Given the description of an element on the screen output the (x, y) to click on. 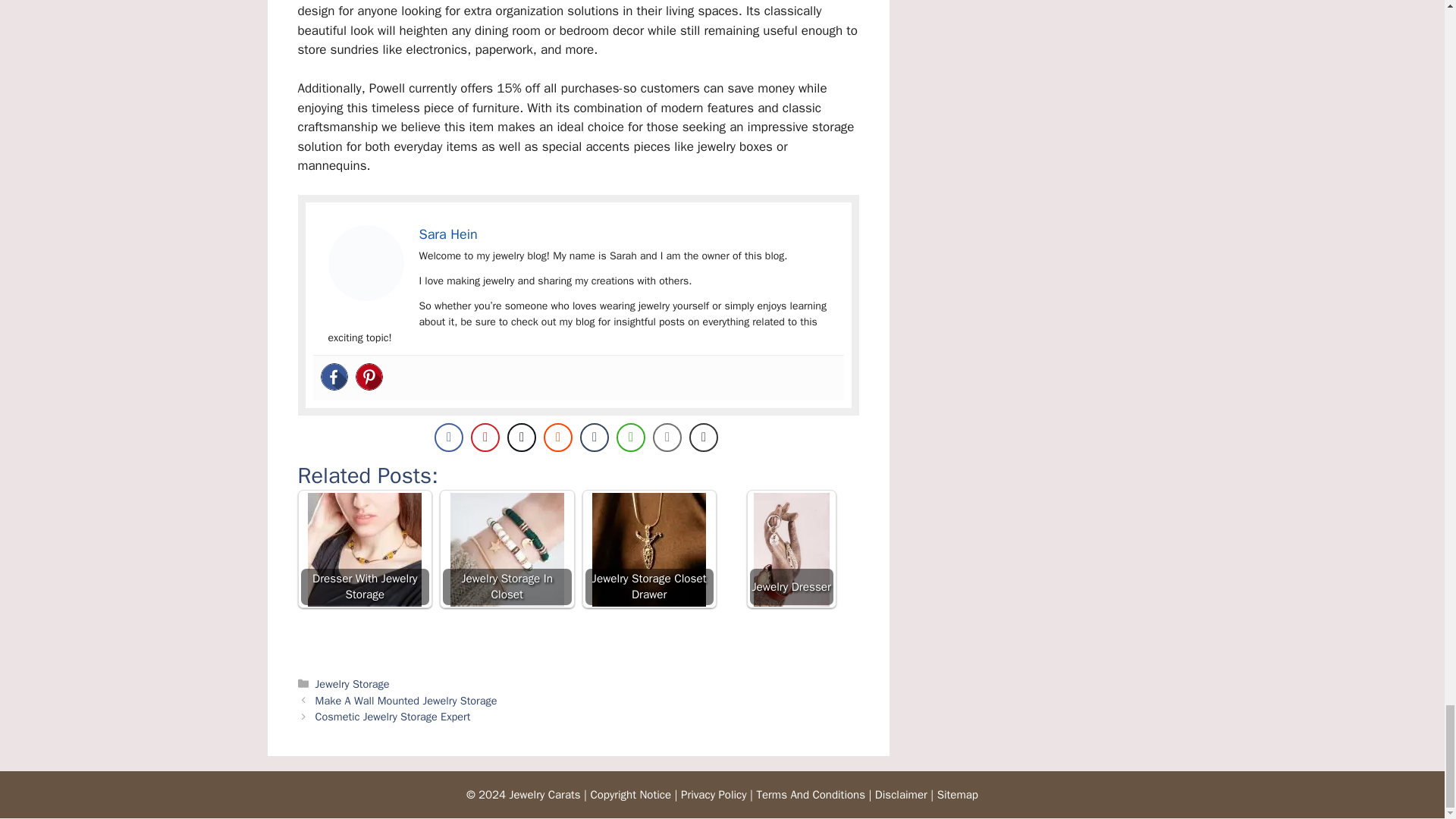
Powell Jewelry Music Storage Dresser Box Closet 2 (365, 263)
Jewelry Storage In Closet (506, 549)
Facebook (333, 376)
Dresser With Jewelry Storage (364, 549)
Pinterest (368, 376)
Jewelry Storage Closet Drawer (649, 549)
